Given the description of an element on the screen output the (x, y) to click on. 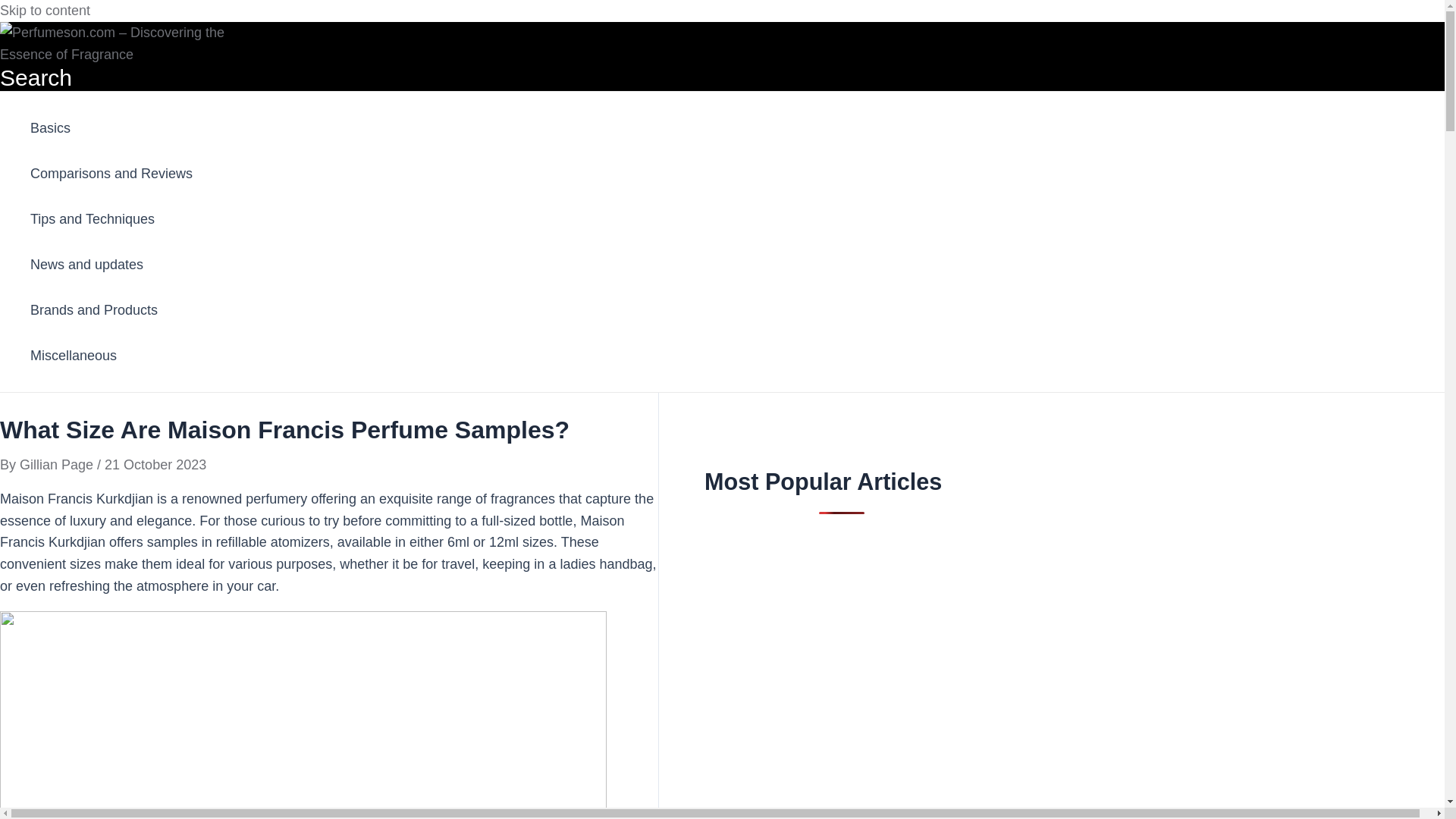
View all posts by Gillian Page (58, 464)
Skip to content (45, 10)
Search (35, 77)
Brands and Products (111, 309)
Gillian Page (58, 464)
News and updates (111, 264)
Miscellaneous (111, 355)
Basics (111, 127)
Tips and Techniques (111, 218)
Skip to content (45, 10)
Comparisons and Reviews (111, 173)
